Given the description of an element on the screen output the (x, y) to click on. 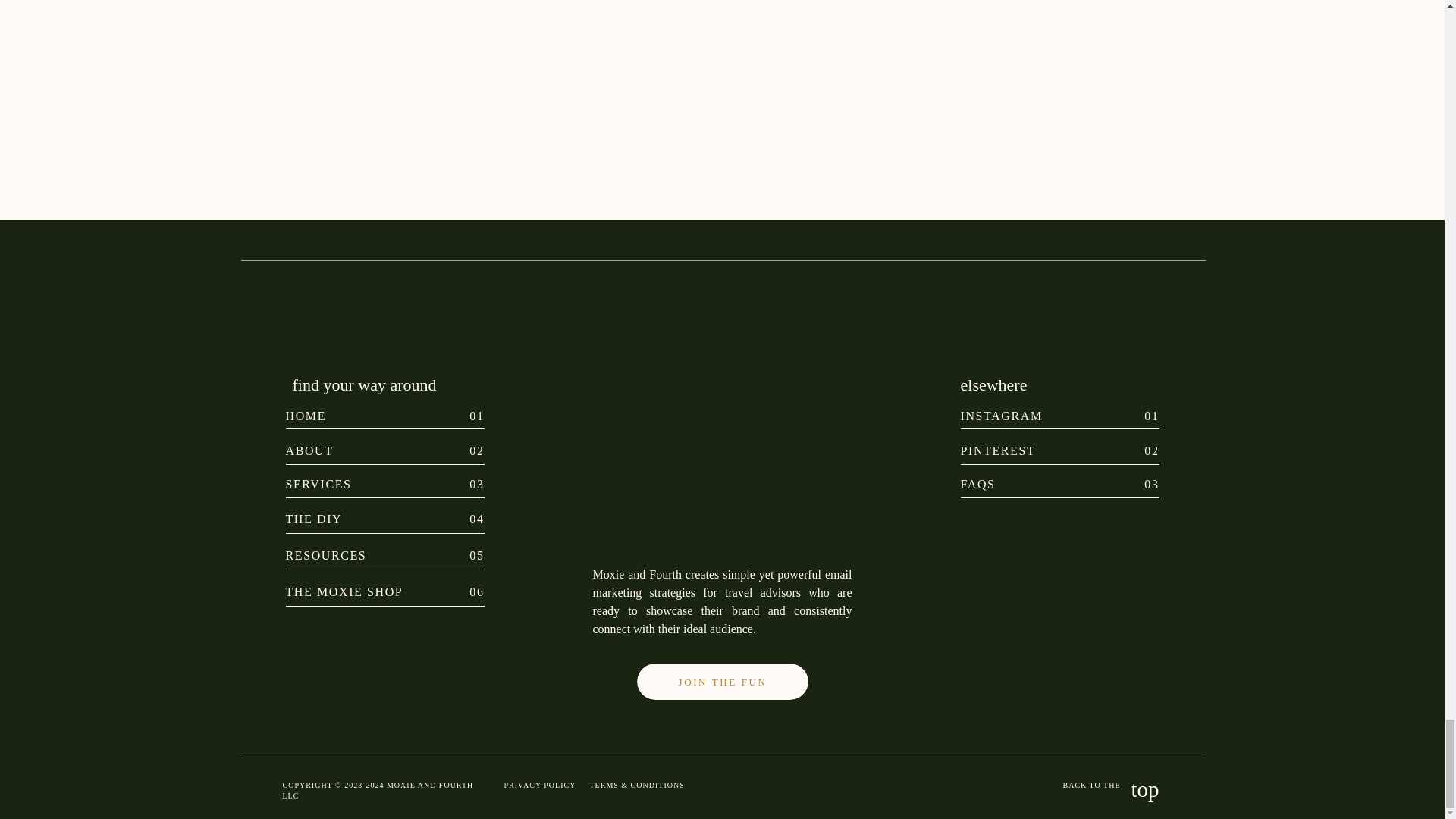
SERVICES (372, 481)
JOIN THE FUN (722, 688)
FAQS (1002, 481)
02 (1130, 449)
01 (1130, 413)
ABOUT (372, 449)
top (1129, 793)
BACK TO THE (1070, 786)
HOME (372, 413)
THE DIY (372, 517)
RESOURCES (372, 553)
PINTEREST (1002, 449)
PRIVACY POLICY (541, 785)
THE MOXIE SHOP (372, 589)
03 (1130, 481)
